Given the description of an element on the screen output the (x, y) to click on. 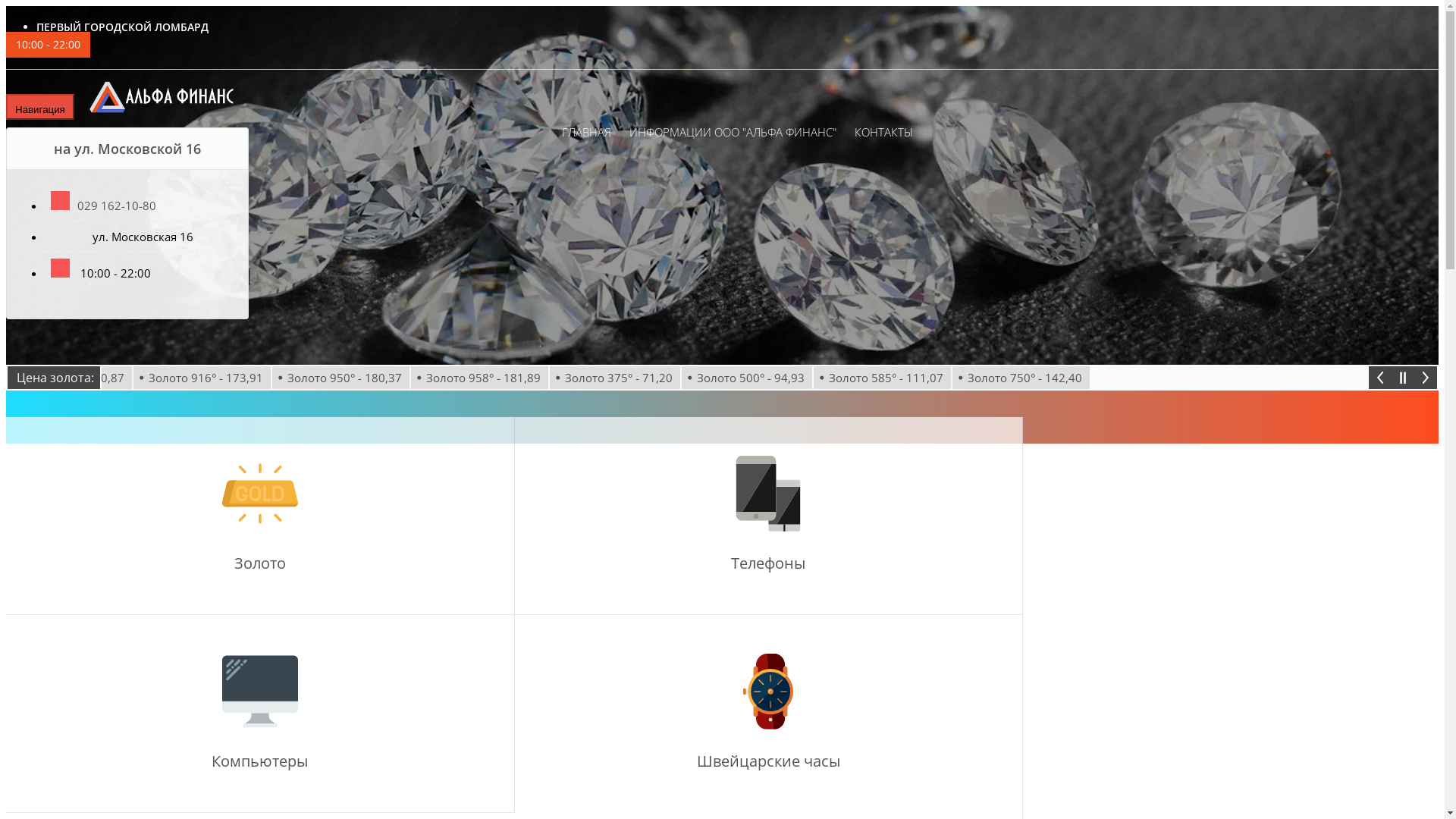
10:00 - 22:00 Element type: text (48, 44)
029 162-10-80 Element type: text (103, 205)
